Given the description of an element on the screen output the (x, y) to click on. 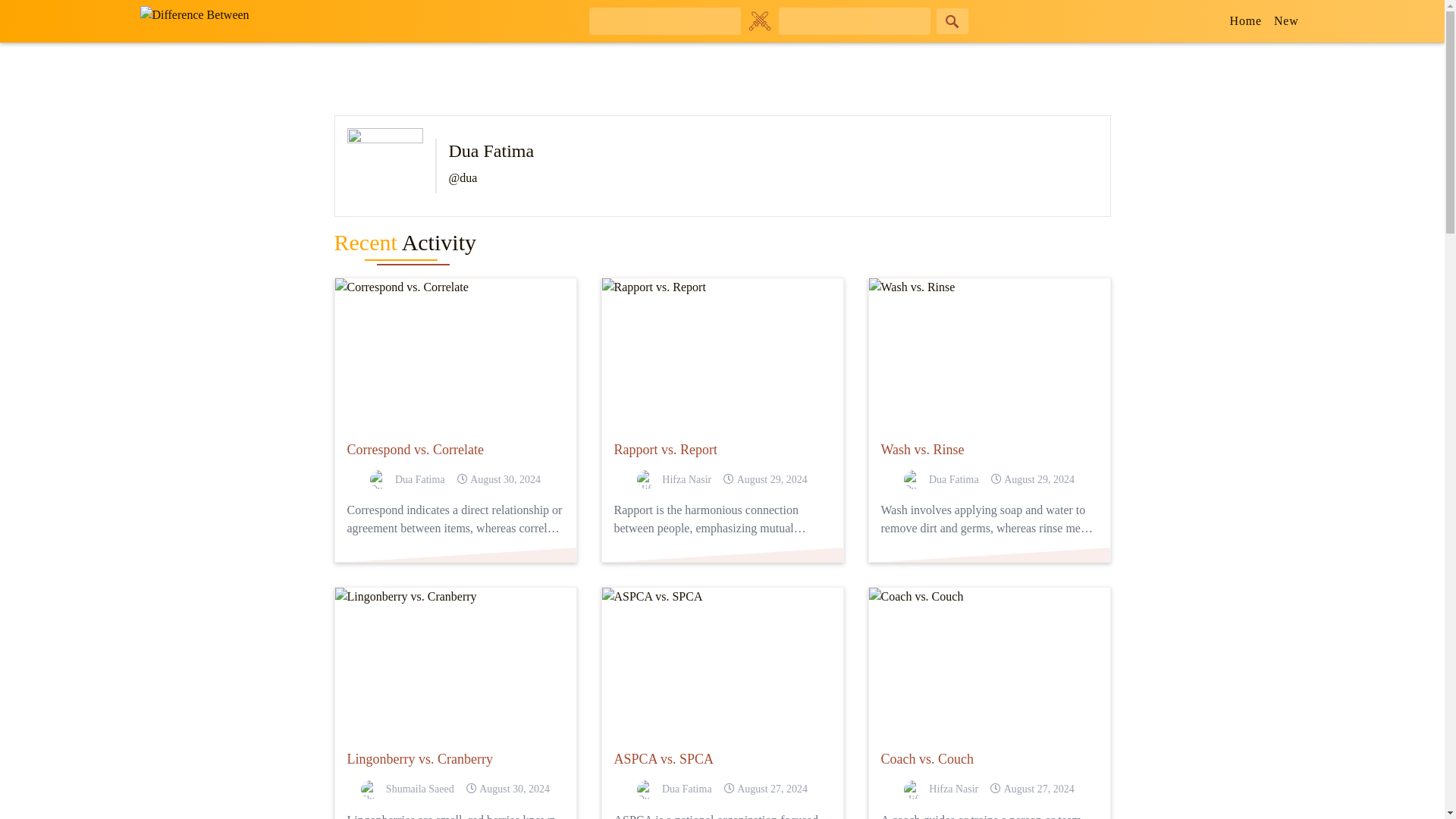
New (1286, 21)
Wash vs. Rinse (989, 449)
Dua Fatima (674, 788)
ASPCA vs. SPCA (722, 759)
Lingonberry vs. Cranberry (455, 759)
Hifza Nasir (674, 479)
Shumaila Saeed (407, 788)
Dua Fatima (941, 479)
Coach vs. Couch (989, 759)
Home (1246, 21)
